Given the description of an element on the screen output the (x, y) to click on. 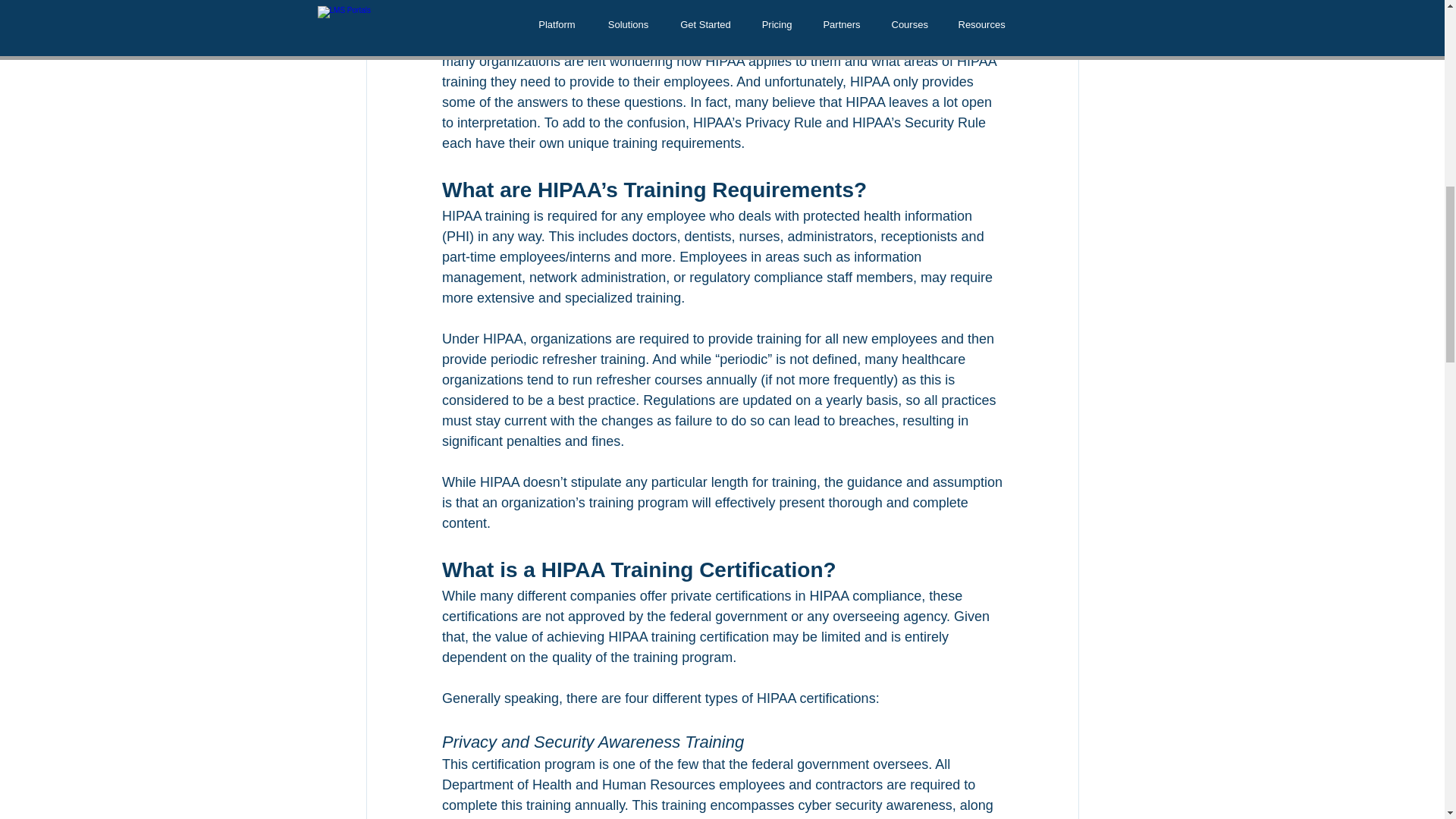
training requirements (595, 40)
